Given the description of an element on the screen output the (x, y) to click on. 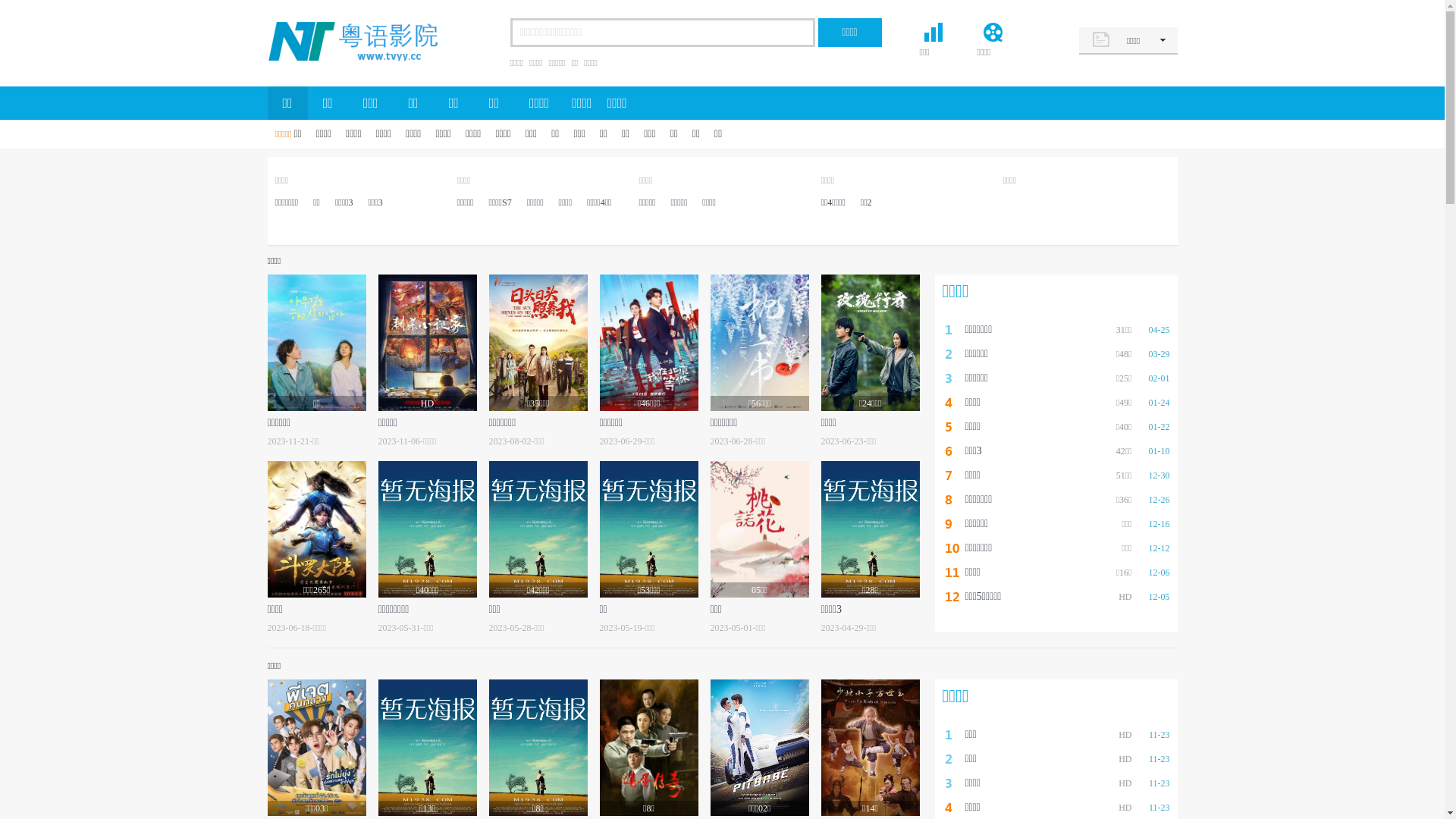
HD Element type: text (426, 342)
